Given the description of an element on the screen output the (x, y) to click on. 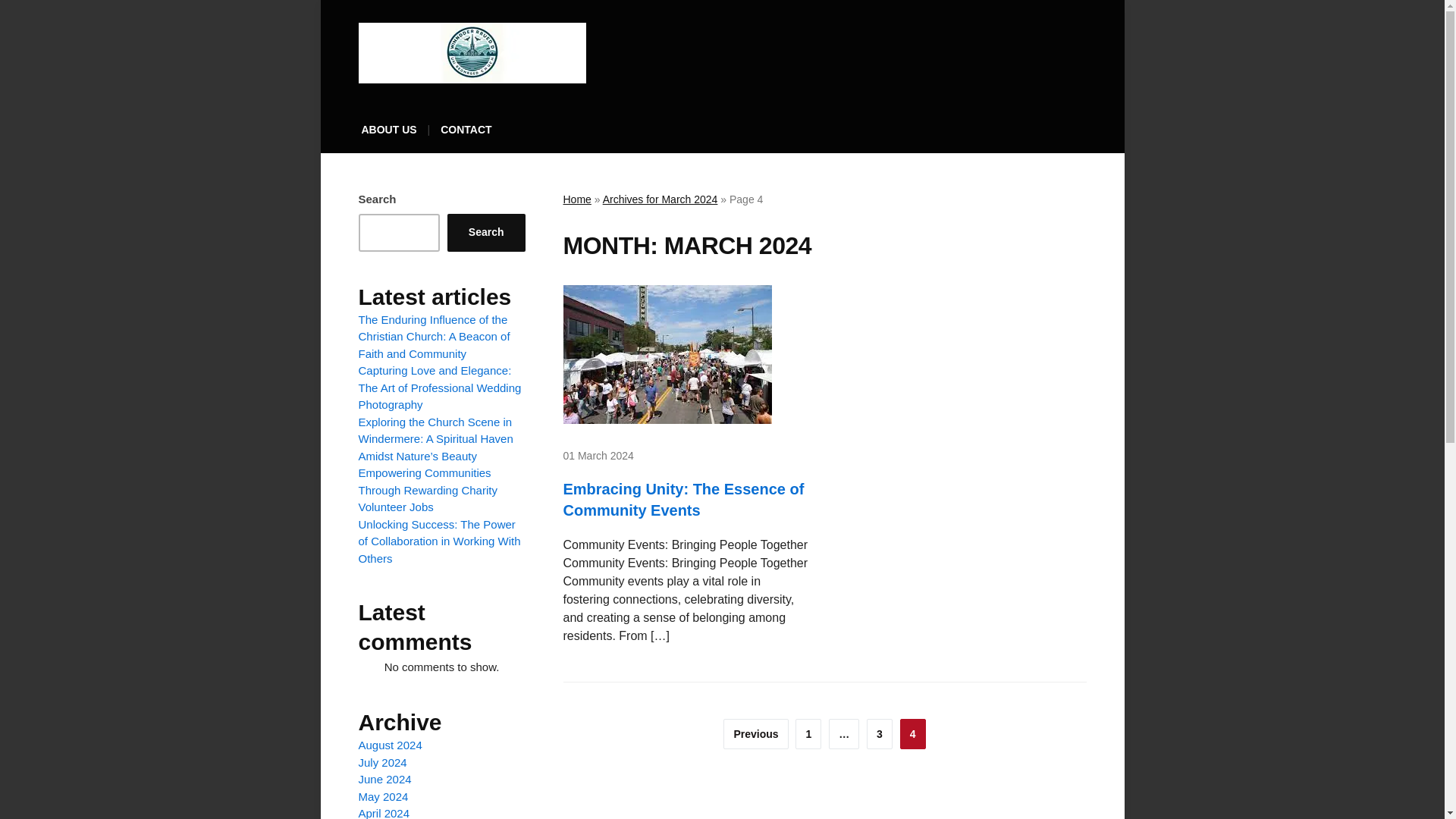
May 2024 (382, 796)
Previous (755, 734)
August 2024 (390, 744)
Search (485, 232)
Home (576, 199)
April 2024 (383, 812)
